Given the description of an element on the screen output the (x, y) to click on. 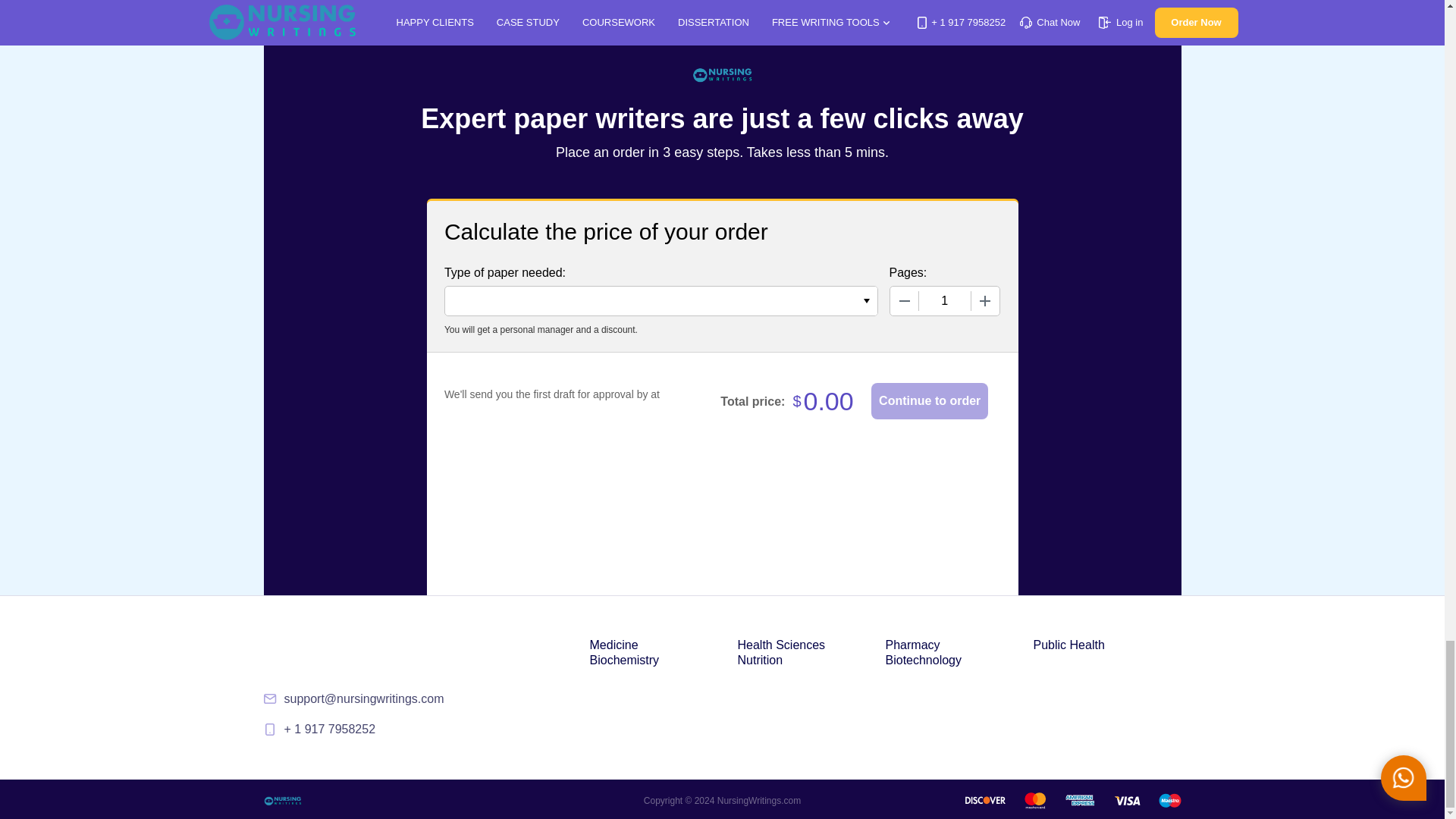
Health Sciences (780, 645)
Public Health (1067, 645)
Continue to order (929, 401)
Decrease (903, 300)
Continue to Order (929, 401)
Biotechnology (923, 660)
Increase (984, 300)
Nutrition (759, 660)
Pharmacy (912, 645)
1 (944, 300)
Medicine (614, 645)
Biochemistry (624, 660)
